Given the description of an element on the screen output the (x, y) to click on. 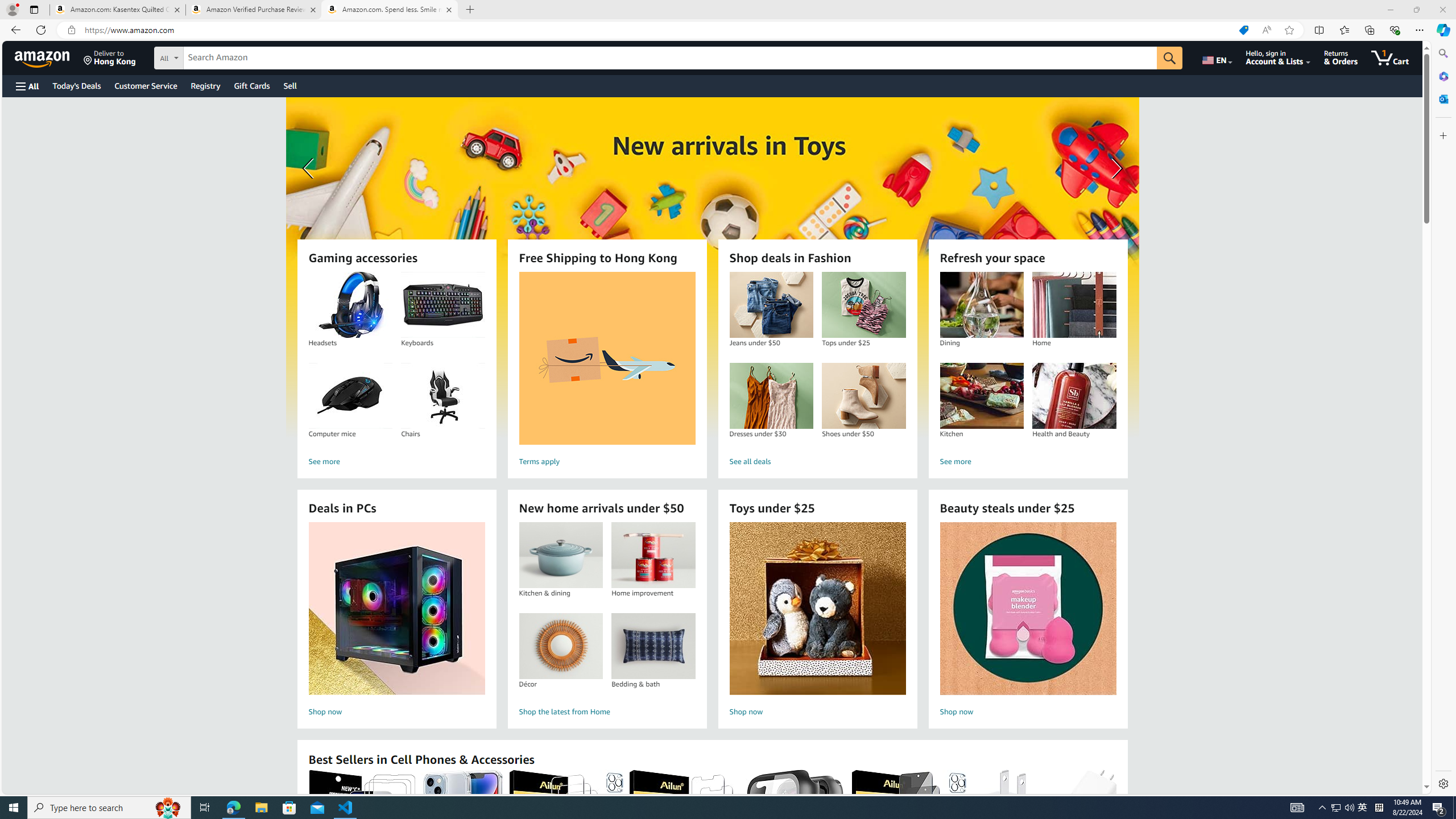
Deals in PCs Shop now (396, 620)
Computer mice (350, 395)
Shoes under $50 (1362, 807)
Amazon.com. Spend less. Smile more. (863, 395)
Search Amazon (390, 9)
Home improvement (670, 57)
Class: a-carousel-card (653, 555)
Beauty steals under $25 Shop now (711, 267)
